Given the description of an element on the screen output the (x, y) to click on. 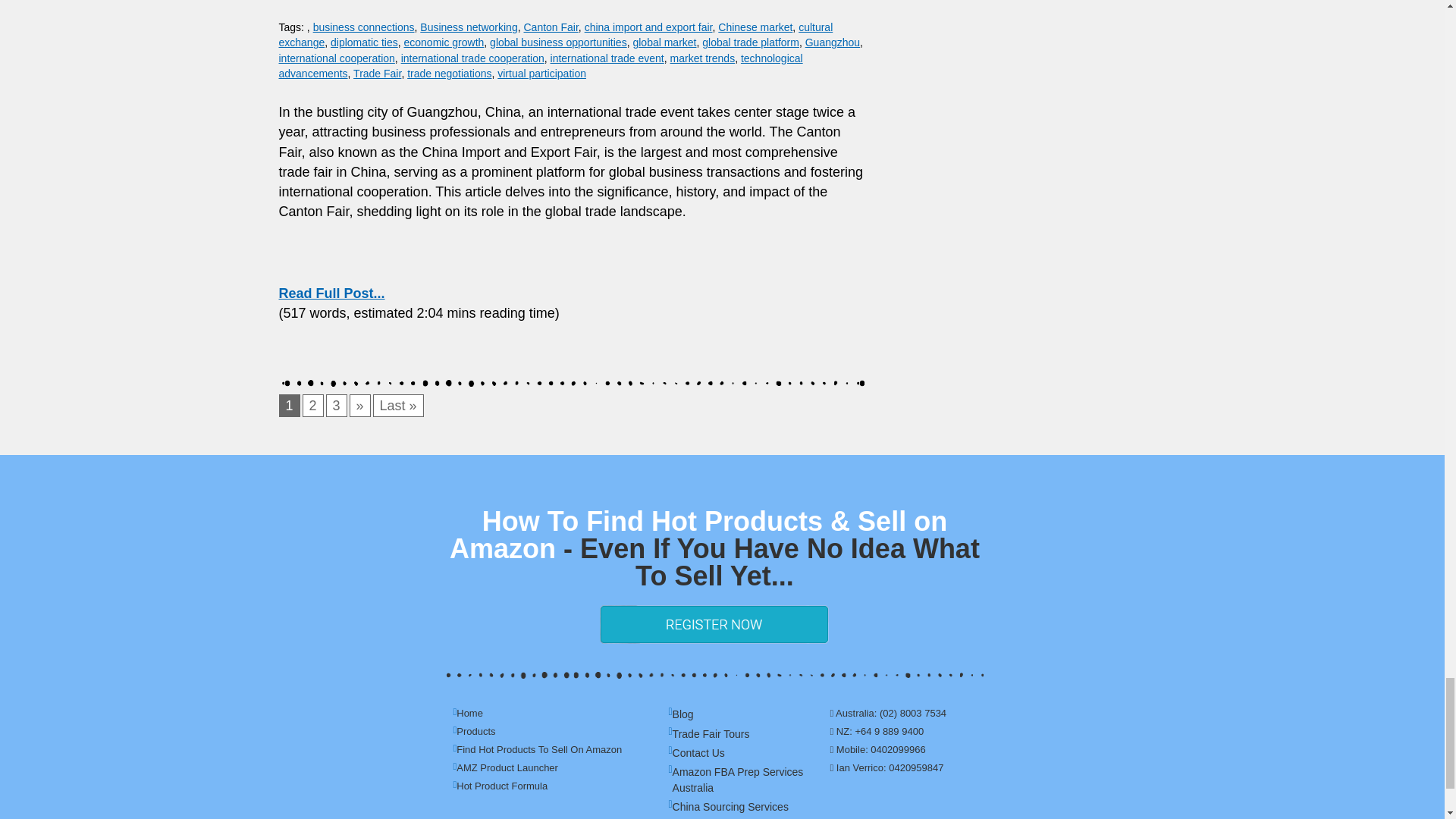
Register Now (713, 624)
